Given the description of an element on the screen output the (x, y) to click on. 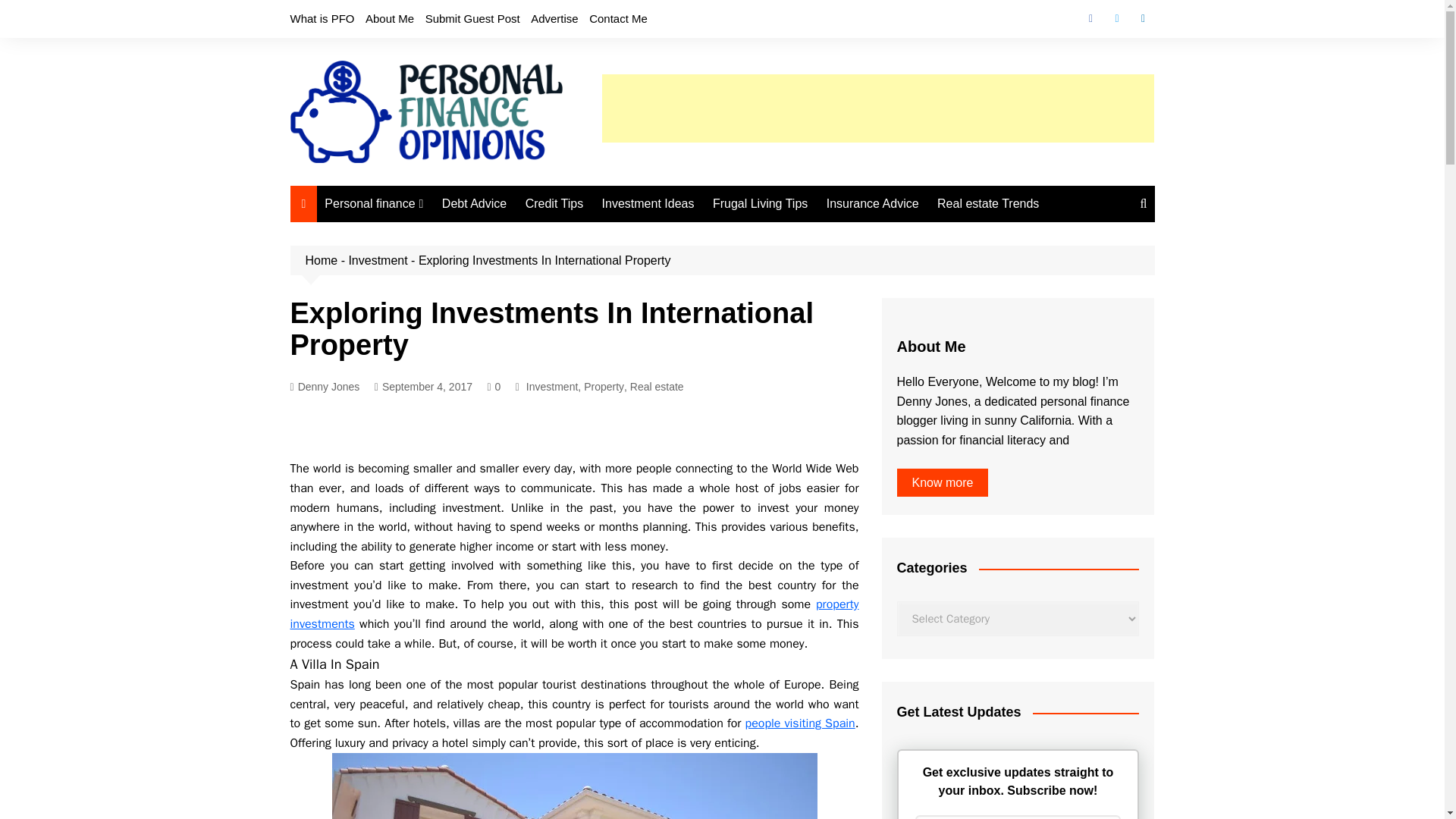
Real estate (657, 386)
Frugal Living Tips (759, 203)
Investment (551, 386)
What is PFO (321, 18)
Debt Advice (473, 203)
Facebook (1091, 18)
September 4, 2017 (422, 386)
Insurance Advice (872, 203)
Real estate Trends (988, 203)
Advertise (554, 18)
Investment (377, 259)
Linkedin (1142, 18)
Denny Jones (324, 386)
property investments (574, 614)
About Me (389, 18)
